Given the description of an element on the screen output the (x, y) to click on. 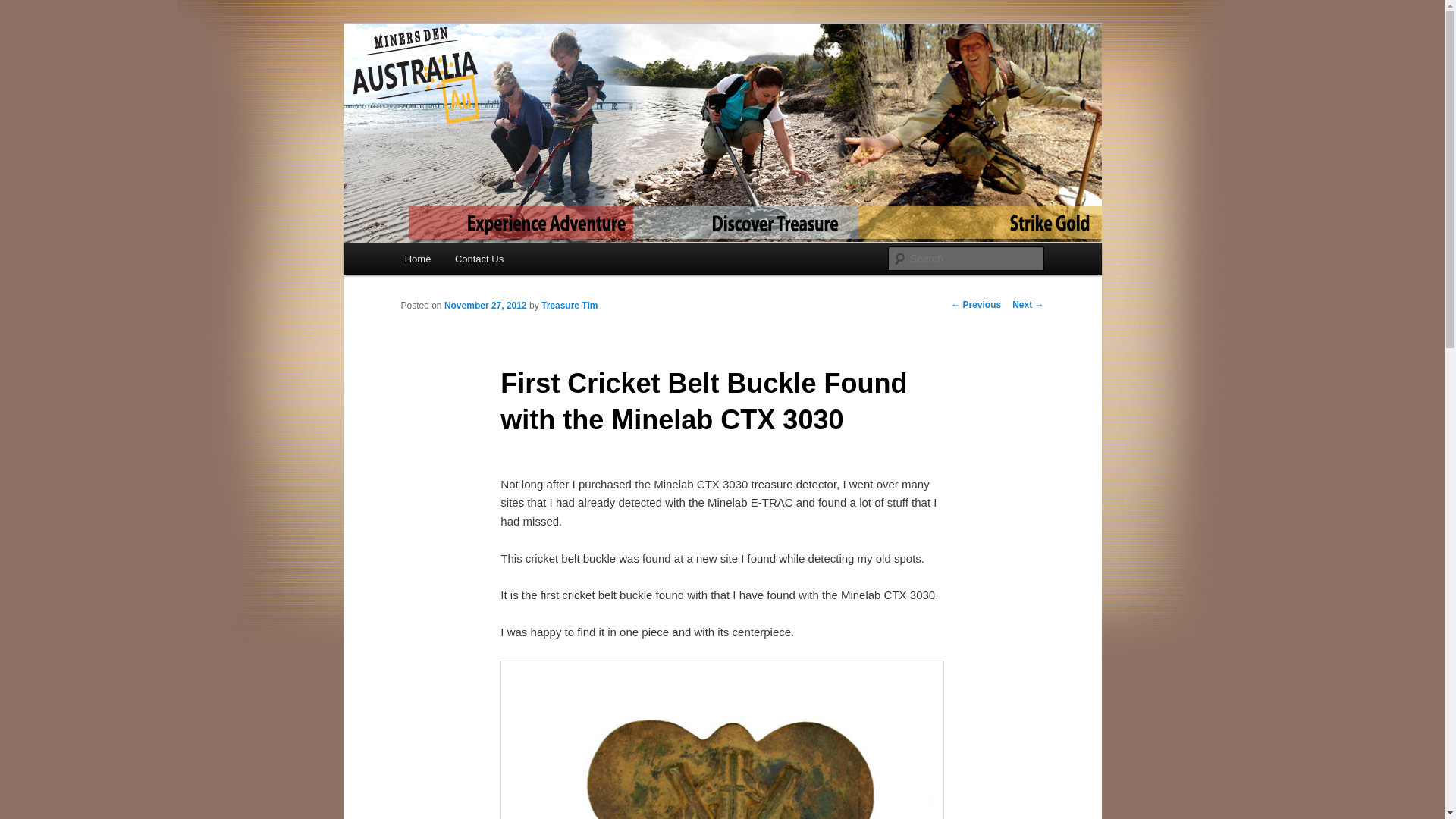
Home Element type: text (417, 258)
Treasure Tim Element type: text (569, 305)
Search Element type: text (24, 8)
Miners Den Australia Element type: text (512, 78)
Skip to primary content Element type: text (414, 242)
Contact Us Element type: text (478, 258)
November 27, 2012 Element type: text (485, 305)
